Given the description of an element on the screen output the (x, y) to click on. 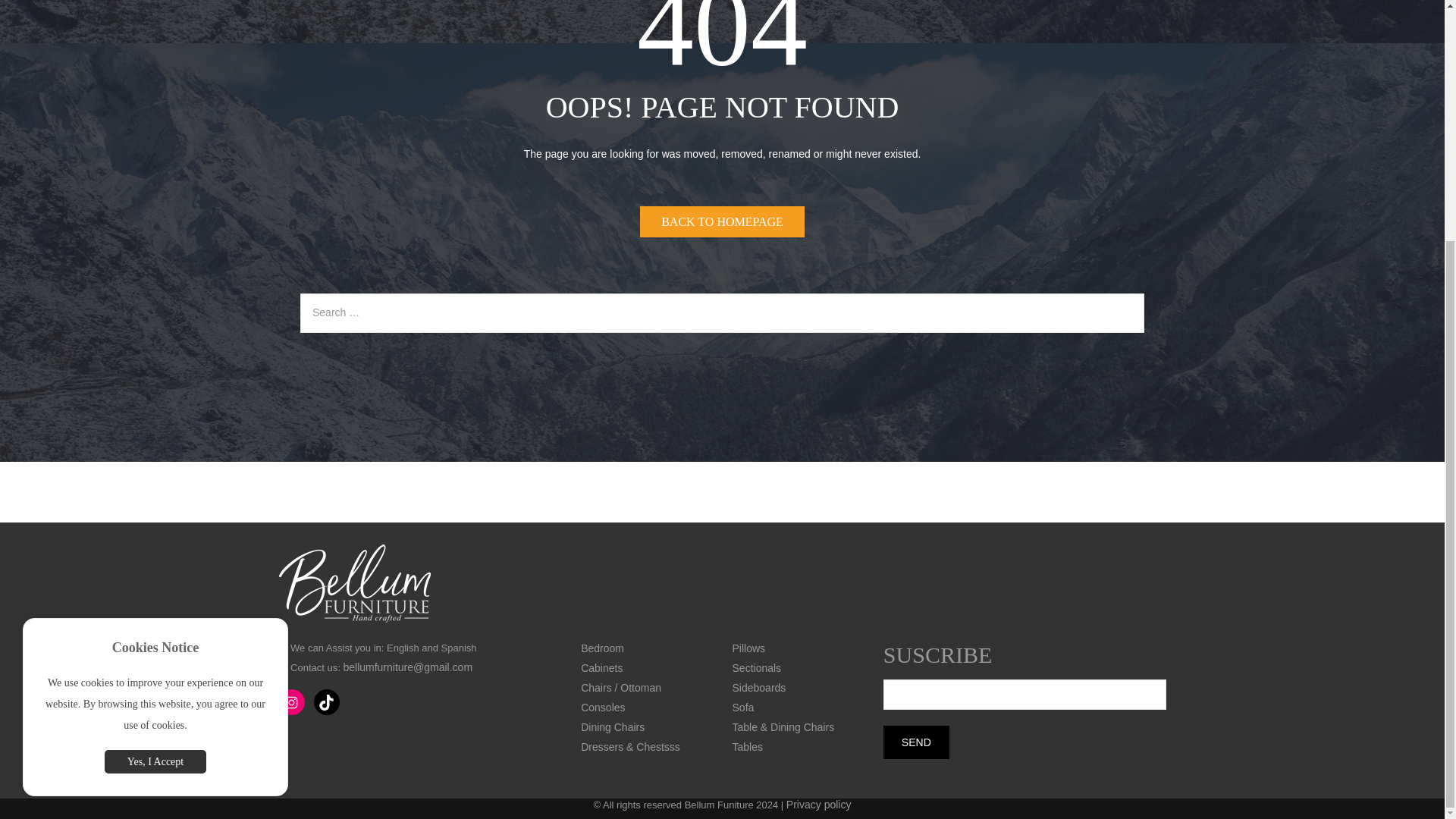
Instagram (291, 701)
Consoles (602, 707)
Send (916, 742)
Dining Chairs (612, 727)
Cabinets (601, 667)
BACK TO HOMEPAGE (722, 221)
Bedroom (602, 648)
TikTok (326, 701)
